Given the description of an element on the screen output the (x, y) to click on. 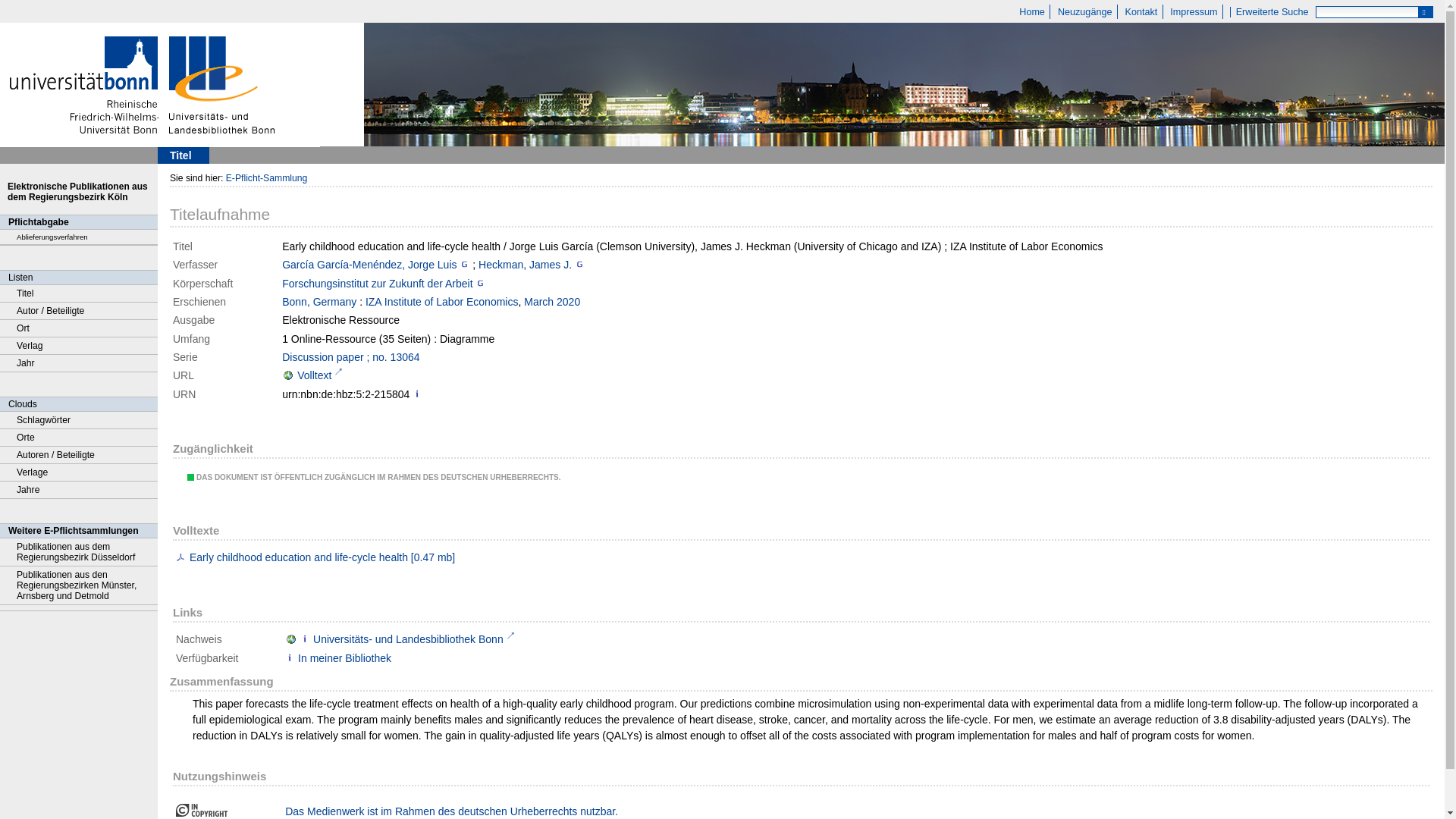
Volltext (312, 375)
Home - Home (1031, 11)
Ort (78, 328)
Erweiterte Suche (1271, 11)
Titel (78, 293)
IZA Institute of Labor Economics (441, 301)
Forschungsinstitut zur Zukunft der Arbeit (376, 283)
Jahre (78, 489)
Discussion paper ; no. 13064 (350, 357)
March 2020 (551, 301)
Verlag (78, 345)
Bonn, Germany (319, 301)
Impressum (1194, 11)
E-Pflicht-Sammlung (266, 177)
Jahr (78, 363)
